Given the description of an element on the screen output the (x, y) to click on. 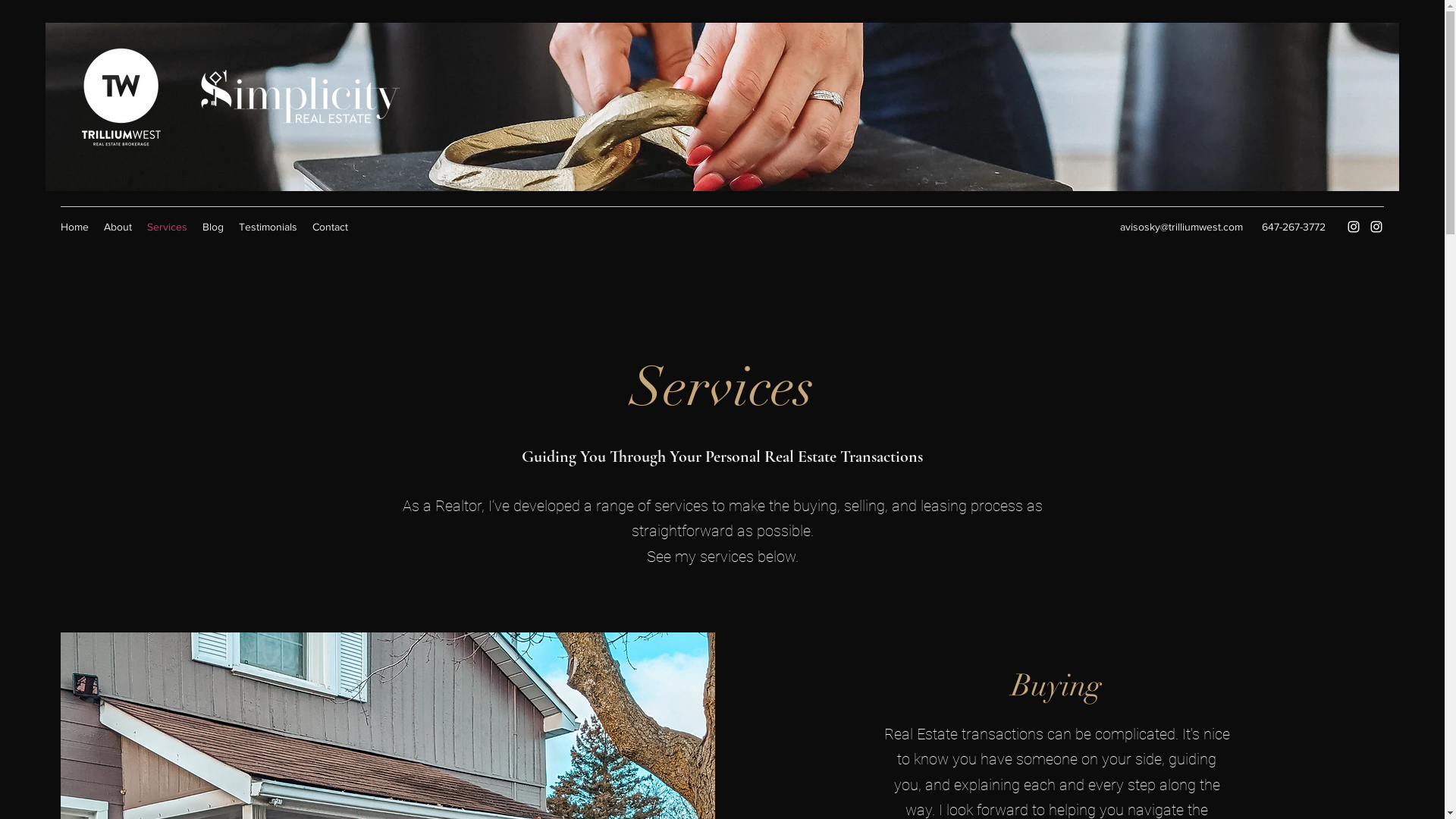
About Element type: text (117, 226)
avisosky@trilliumwest.com Element type: text (1181, 226)
Contact Element type: text (329, 226)
Blog Element type: text (212, 226)
Testimonials Element type: text (267, 226)
Home Element type: text (74, 226)
Services Element type: text (166, 226)
